Given the description of an element on the screen output the (x, y) to click on. 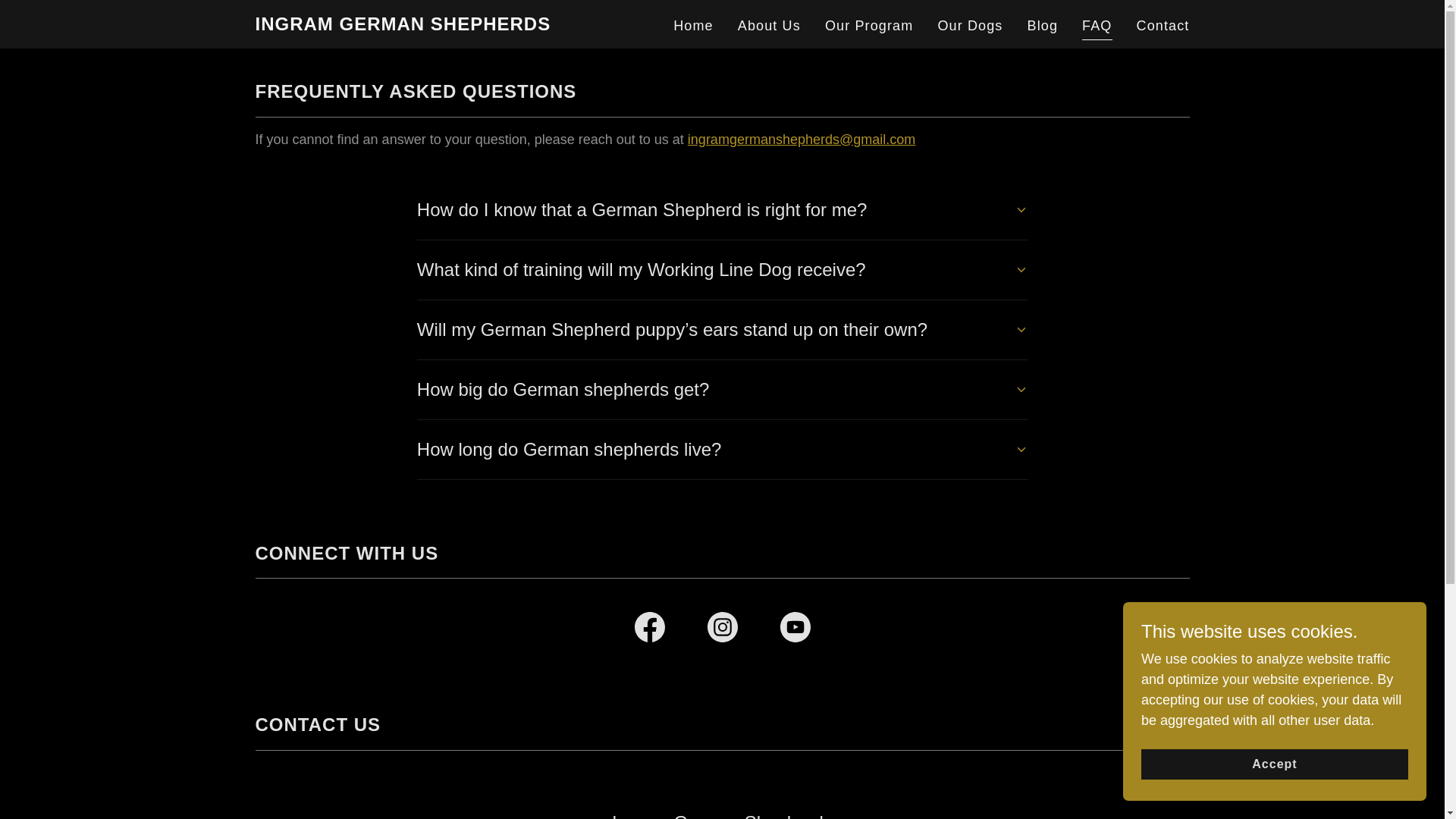
INGRAM GERMAN SHEPHERDS (402, 25)
About Us (769, 25)
Contact (1162, 25)
How do I know that a German Shepherd is right for me? (721, 209)
Our Program (869, 25)
Ingram German Shepherds (402, 25)
Accept (1274, 764)
Home (692, 25)
What kind of training will my Working Line Dog receive? (721, 269)
Blog (1042, 25)
How long do German shepherds live? (721, 449)
Our Dogs (970, 25)
FAQ (1096, 27)
How big do German shepherds get? (721, 389)
